Given the description of an element on the screen output the (x, y) to click on. 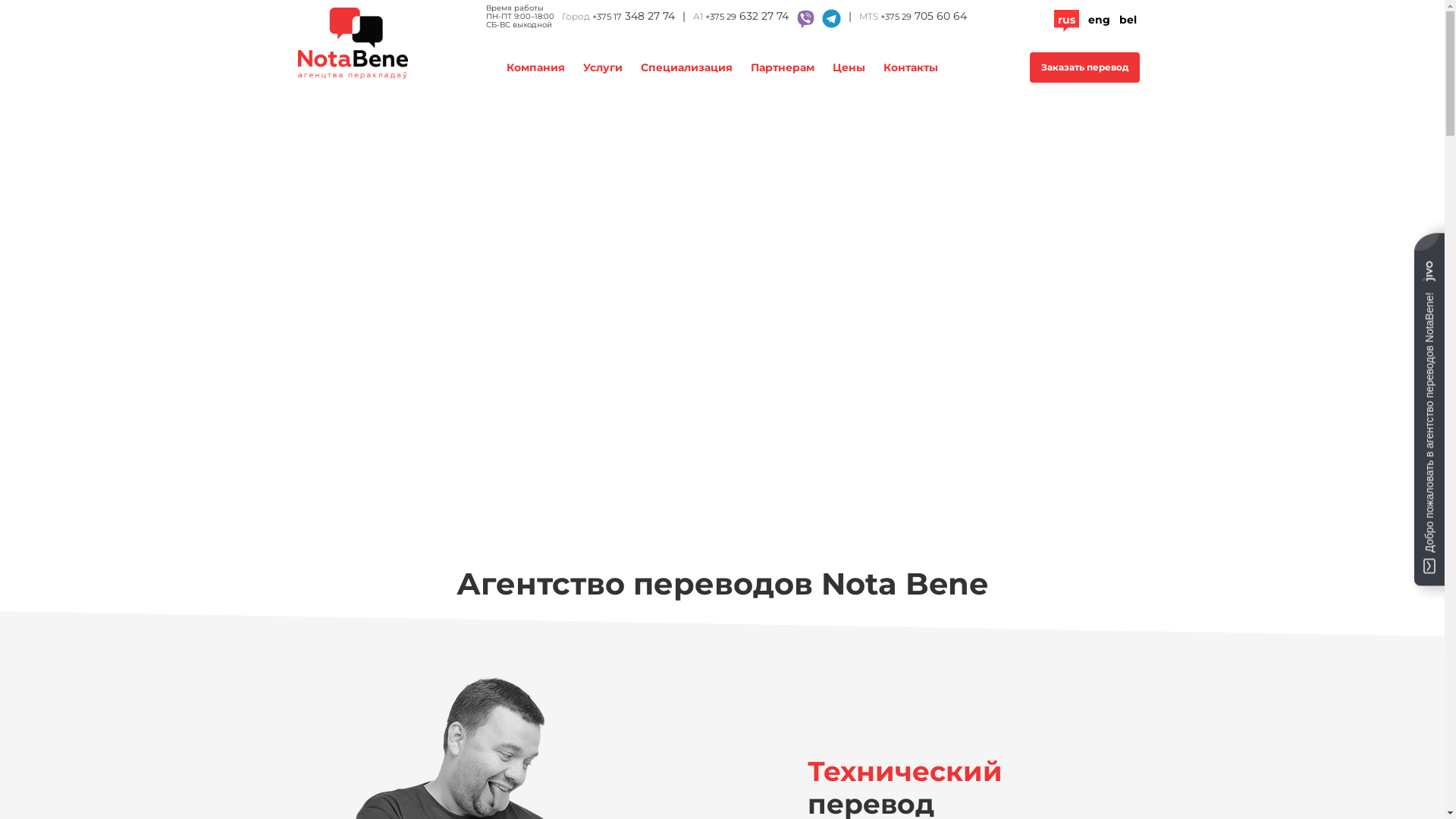
rus Element type: text (1065, 19)
+375 29 632 27 74 Element type: text (746, 17)
+375 29 705 60 64 Element type: text (922, 16)
bel Element type: text (1127, 19)
+375 17 348 27 74 Element type: text (632, 16)
eng Element type: text (1098, 19)
